Given the description of an element on the screen output the (x, y) to click on. 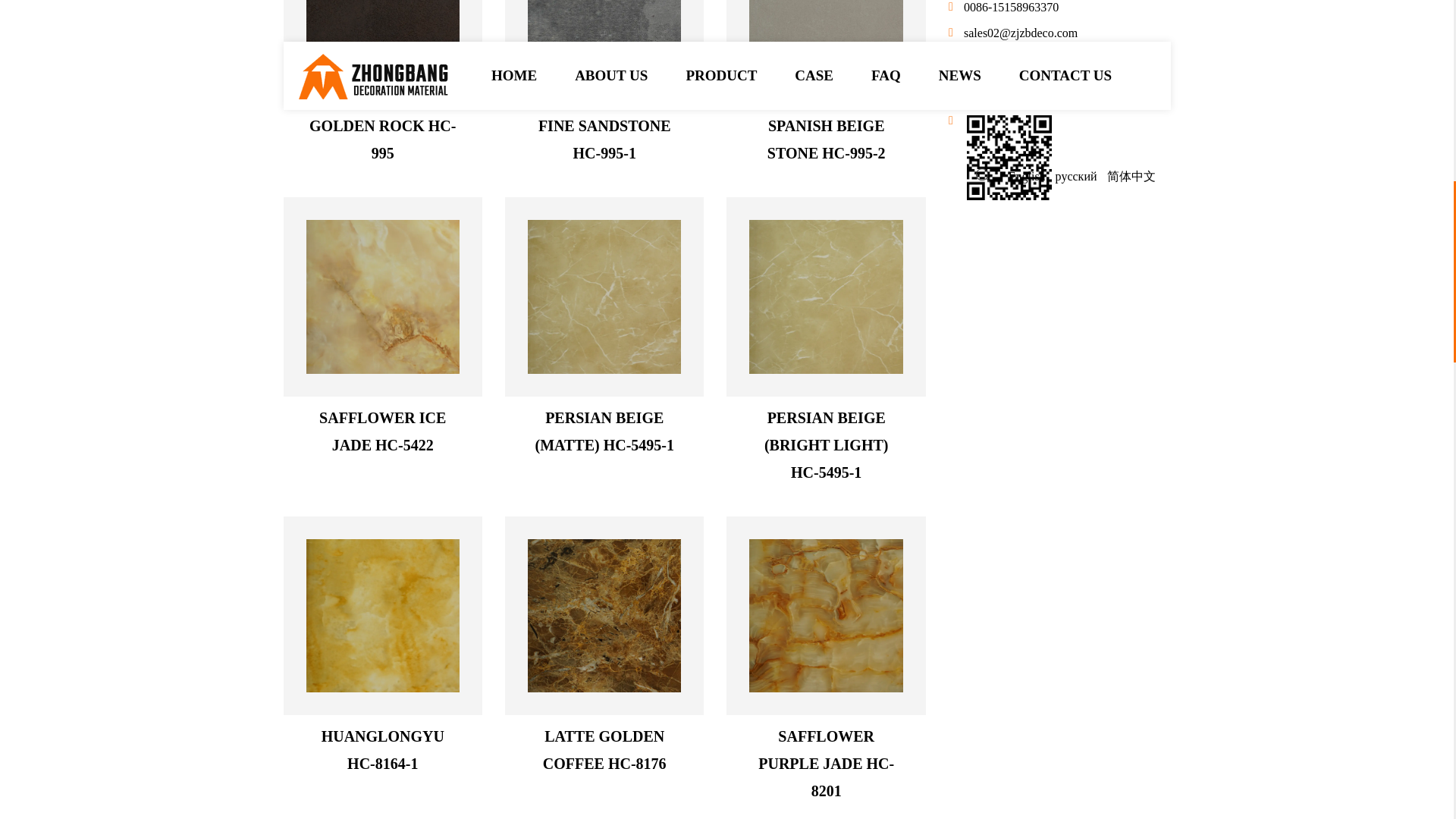
Spanish Beige Stone HC-995-2 (825, 40)
Safflower Purple Jade HC-8201 (825, 615)
Latte Golden Coffee HC-8176 (604, 615)
Fine sandstone HC-995-1 (604, 40)
Golden Rock HC-995 (382, 40)
Safflower ice jade HC-5422 (382, 296)
Huanglongyu HC-8164-1 (382, 615)
